Given the description of an element on the screen output the (x, y) to click on. 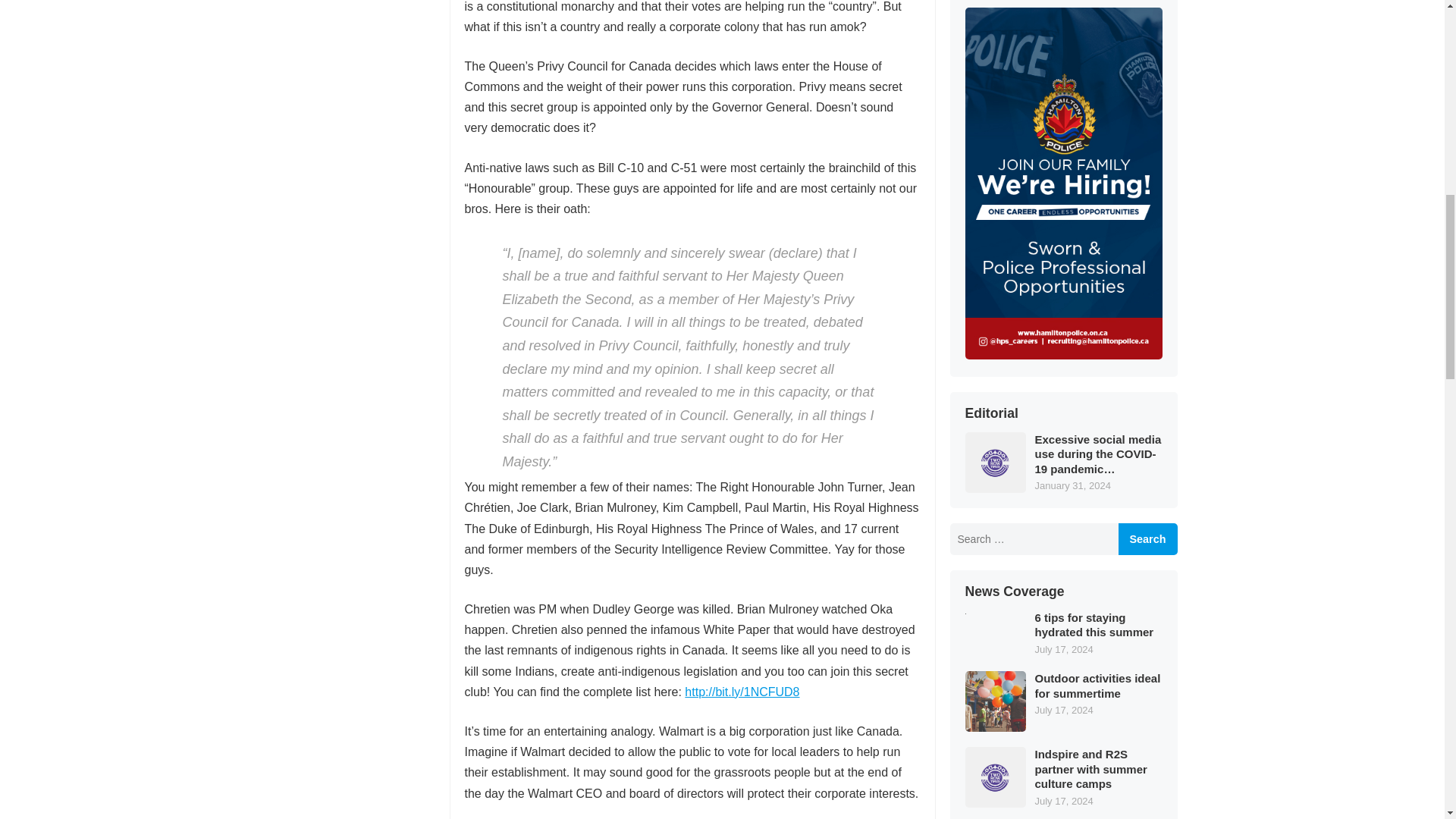
Search (1147, 539)
Search (1147, 539)
